Given the description of an element on the screen output the (x, y) to click on. 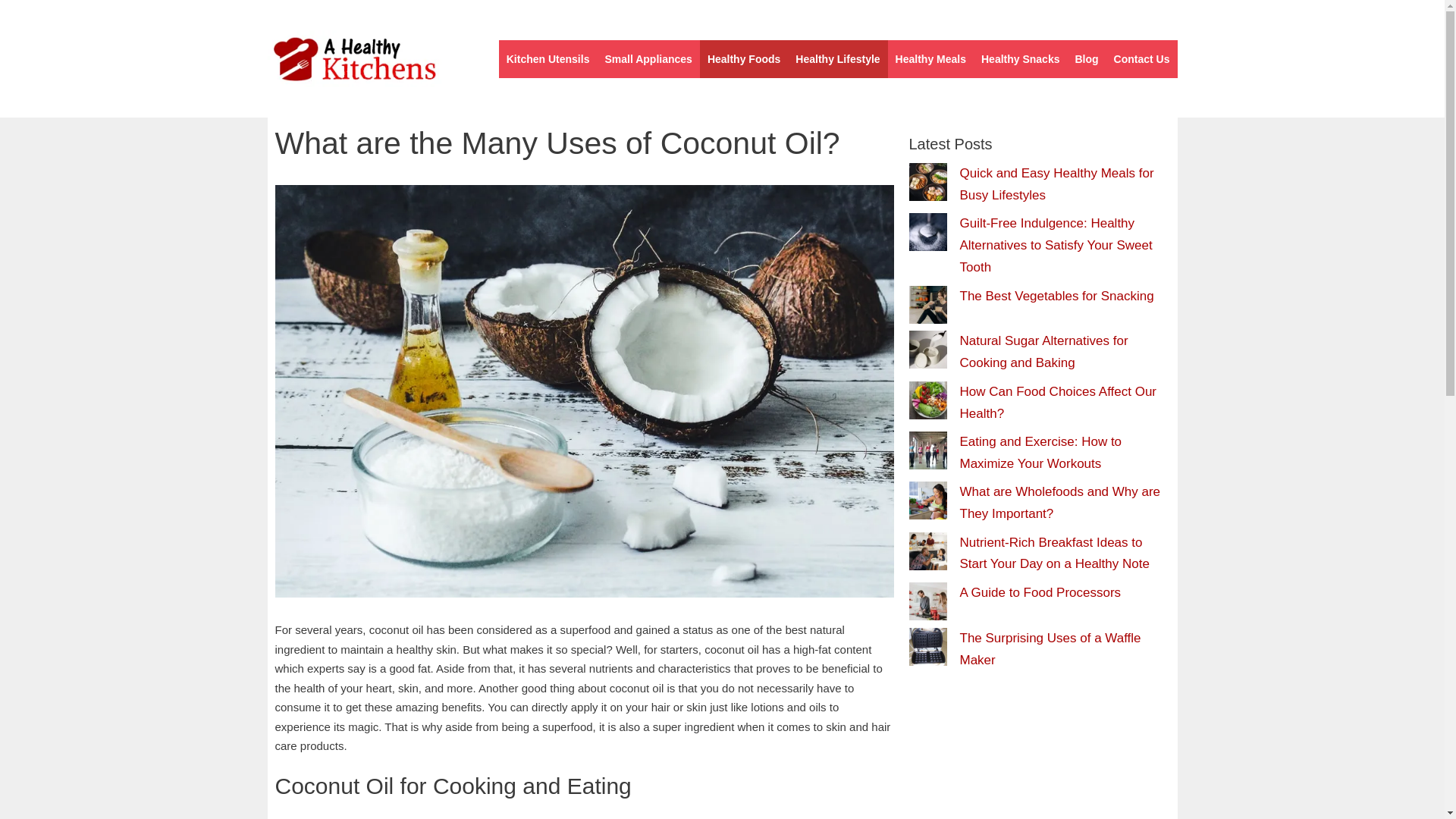
Quick and Easy Healthy Meals for Busy Lifestyles (1056, 184)
Small Appliances (647, 58)
Healthy Foods (743, 58)
Healthy Meals (931, 58)
Kitchen Utensils (547, 58)
The Surprising Uses of a Waffle Maker (1050, 648)
How Can Food Choices Affect Our Health? (1058, 402)
Eating and Exercise: How to Maximize Your Workouts (1040, 452)
